Given the description of an element on the screen output the (x, y) to click on. 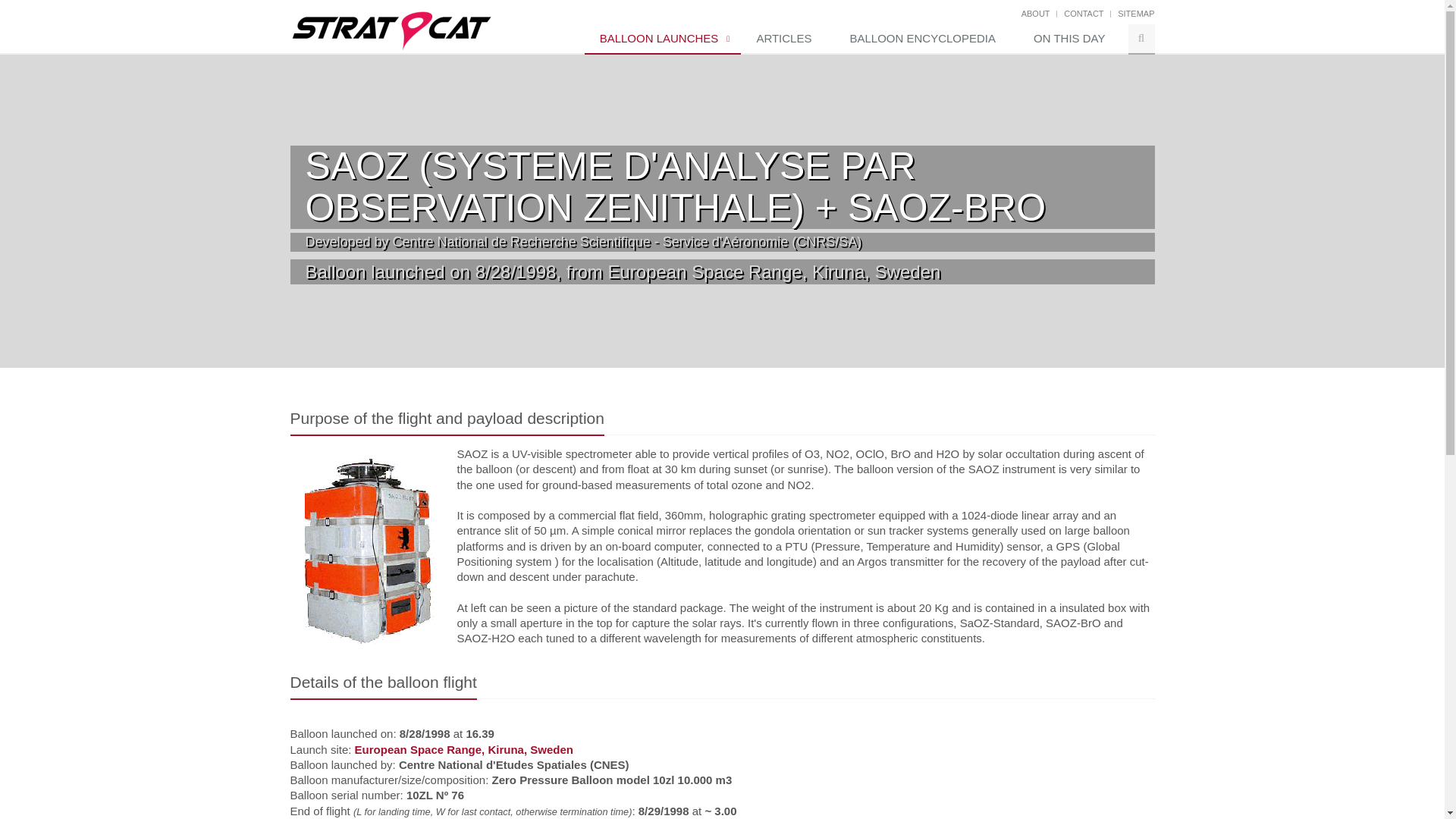
BALLOON ENCYCLOPEDIA (925, 39)
CONTACT (1083, 13)
BALLOON LAUNCHES (663, 39)
ARTICLES (787, 39)
European Space Range, Kiruna, Sweden (464, 748)
SITEMAP (1136, 13)
ON THIS DAY (1071, 39)
ABOUT (1035, 13)
